Given the description of an element on the screen output the (x, y) to click on. 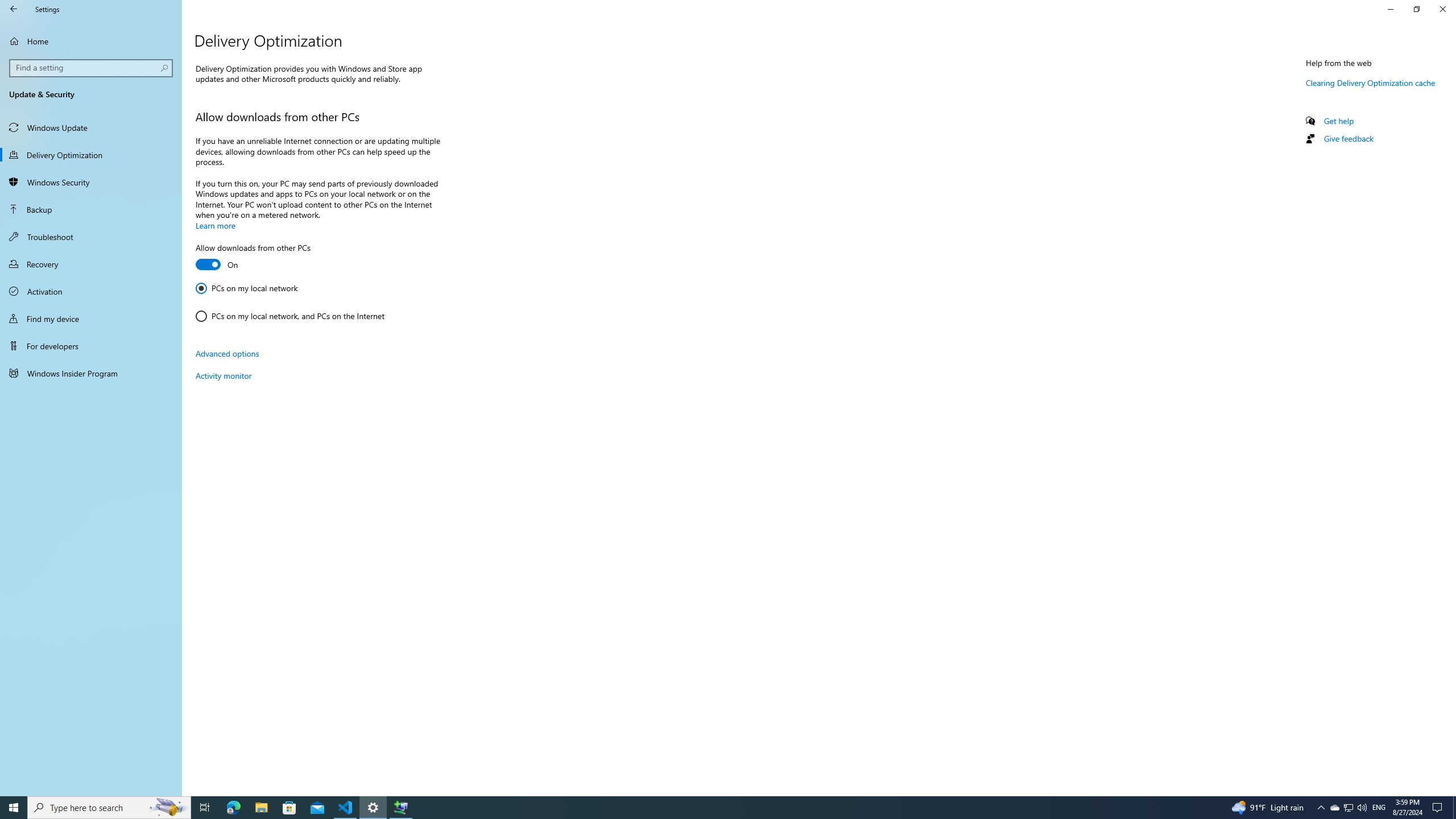
Back (13, 9)
Activity monitor (223, 375)
PCs on my local network (246, 288)
Windows Insider Program (91, 372)
Extensible Wizards Host Process - 1 running window (400, 807)
Recovery (91, 263)
Allow downloads from other PCs (252, 257)
Running applications (706, 807)
Get help (1338, 120)
